Given the description of an element on the screen output the (x, y) to click on. 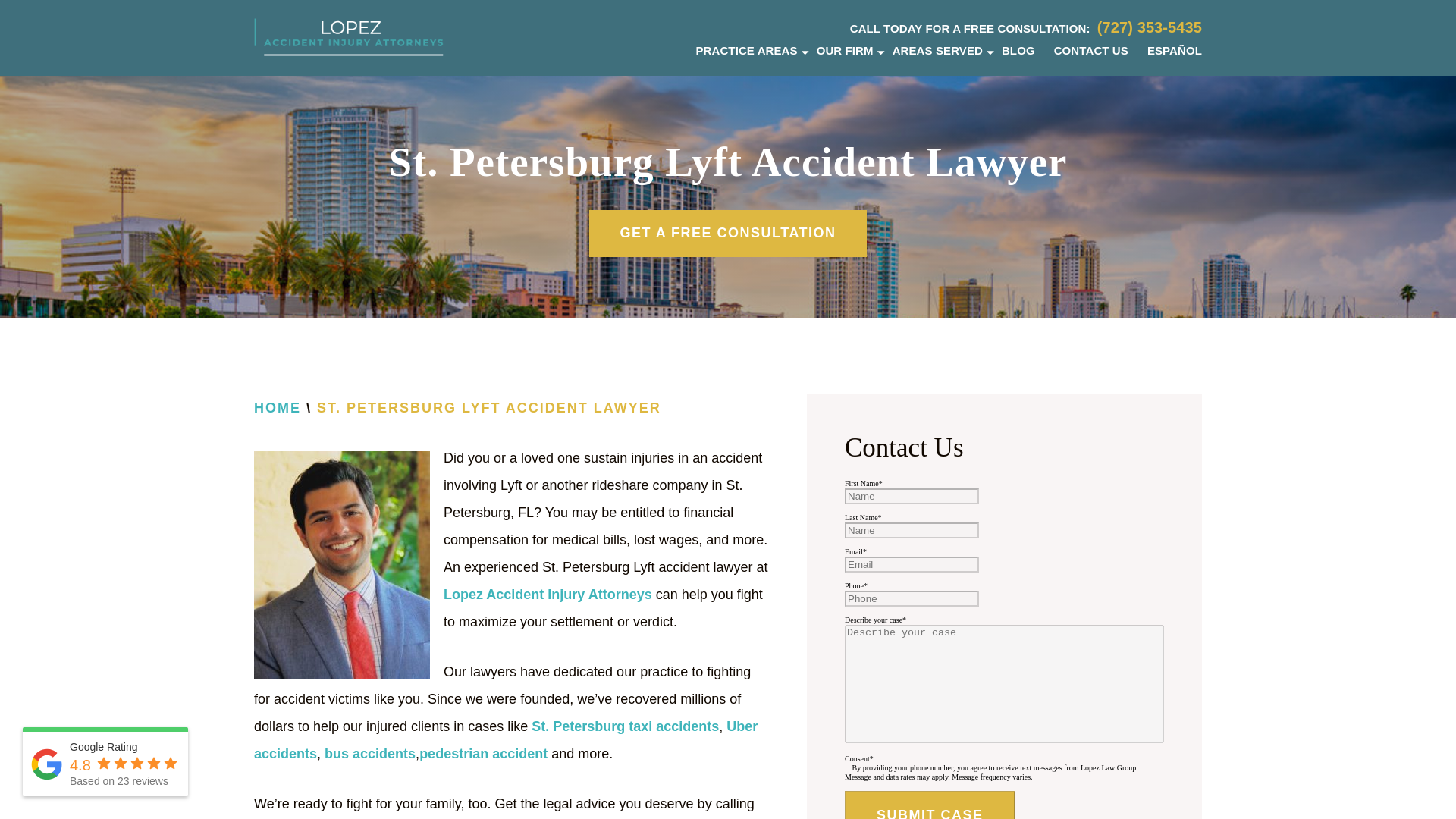
PRACTICE AREAS (745, 50)
OUR FIRM (844, 50)
Submit Case (929, 805)
Uber accidents (505, 741)
GET A FREE CONSULTATION (727, 233)
pedestrian accident (483, 754)
HOME (277, 408)
St. Petersburg taxi accidents (625, 727)
CONTACT US (1091, 50)
GET A FREE CONSULTATION (727, 233)
Lopez-Accident-logo-white (348, 36)
bus accidents (369, 754)
AREAS SERVED (937, 50)
Lopez Accident Injury Attorneys (548, 595)
